Given the description of an element on the screen output the (x, y) to click on. 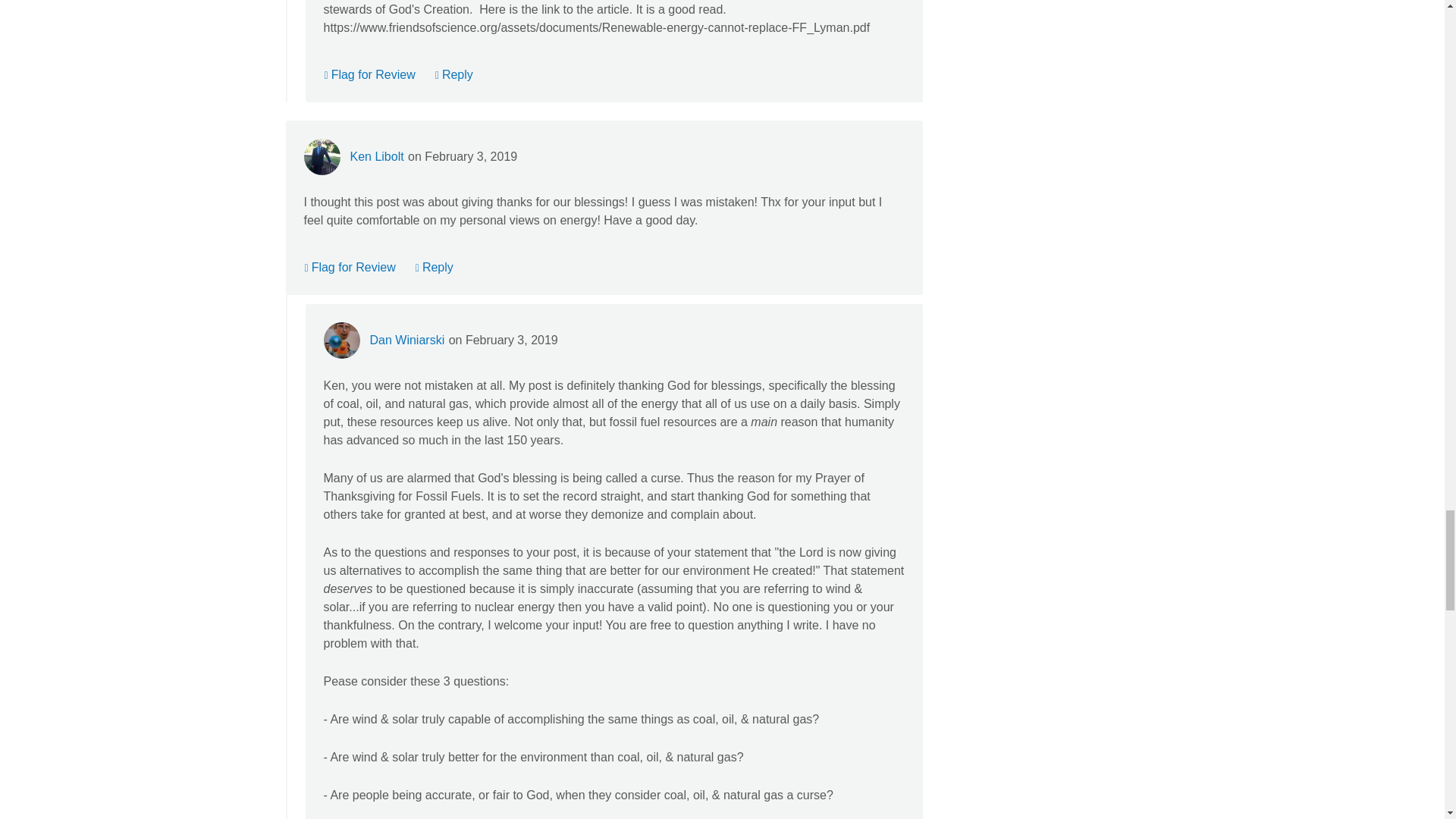
View user profile. (376, 156)
View user profile. (406, 339)
